Given the description of an element on the screen output the (x, y) to click on. 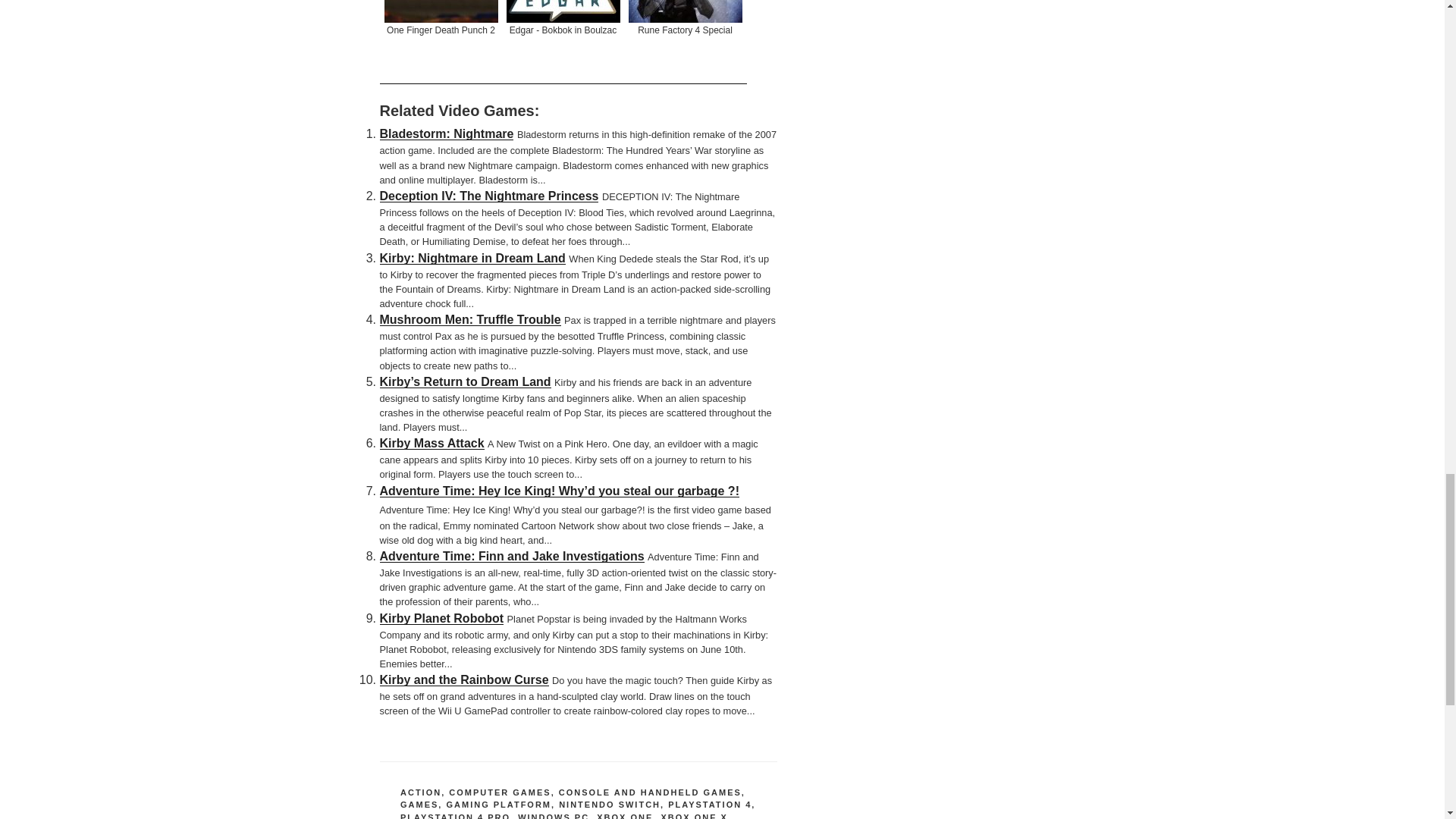
Edgar - Bokbok in Boulzac (563, 42)
Bladestorm: Nightmare (445, 133)
One Finger Death Punch 2 (440, 42)
Rune Factory 4 Special (684, 42)
